Given the description of an element on the screen output the (x, y) to click on. 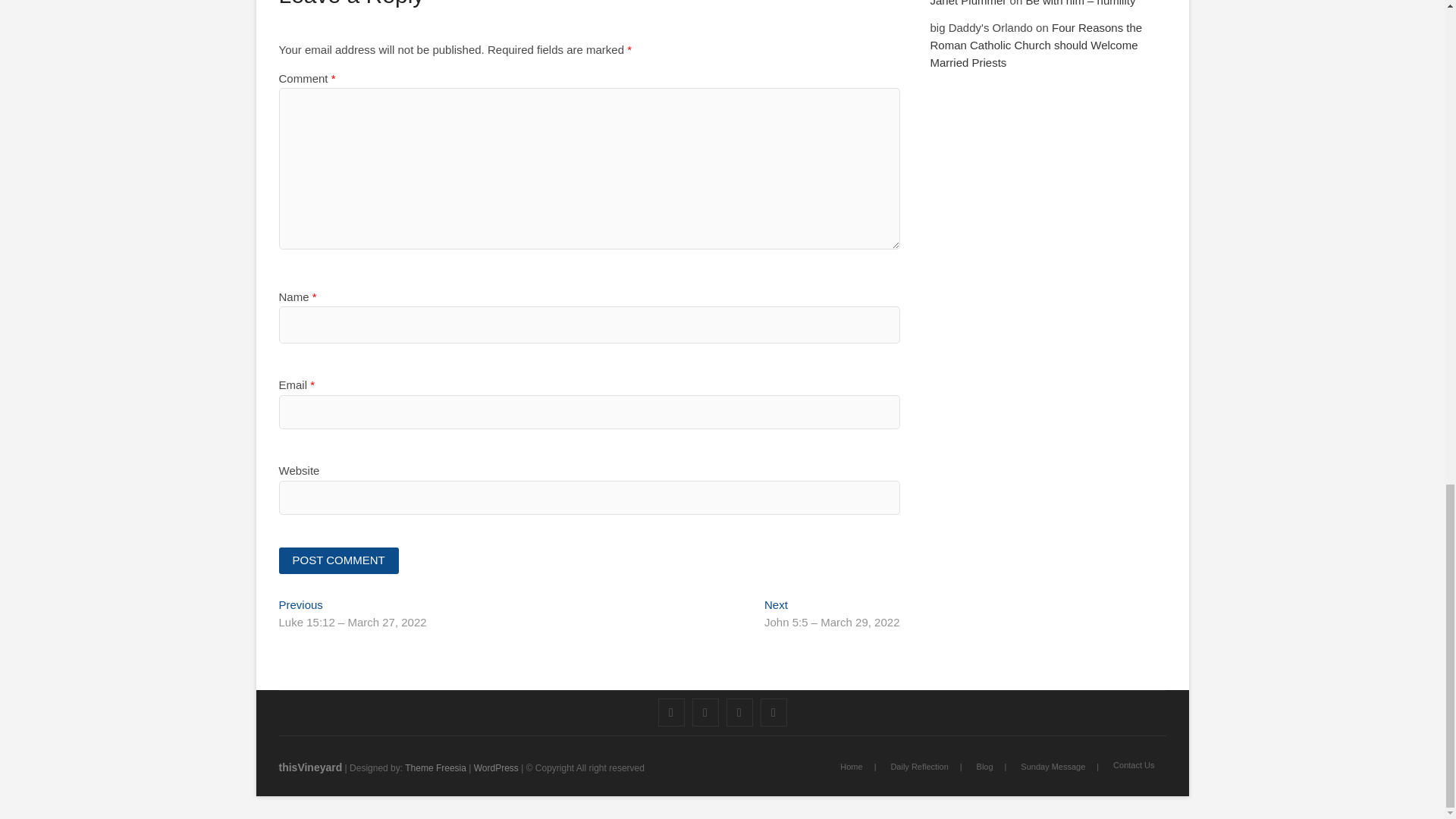
Theme Freesia (434, 767)
thisVineyard (310, 767)
WordPress (496, 767)
Post Comment (338, 560)
